Given the description of an element on the screen output the (x, y) to click on. 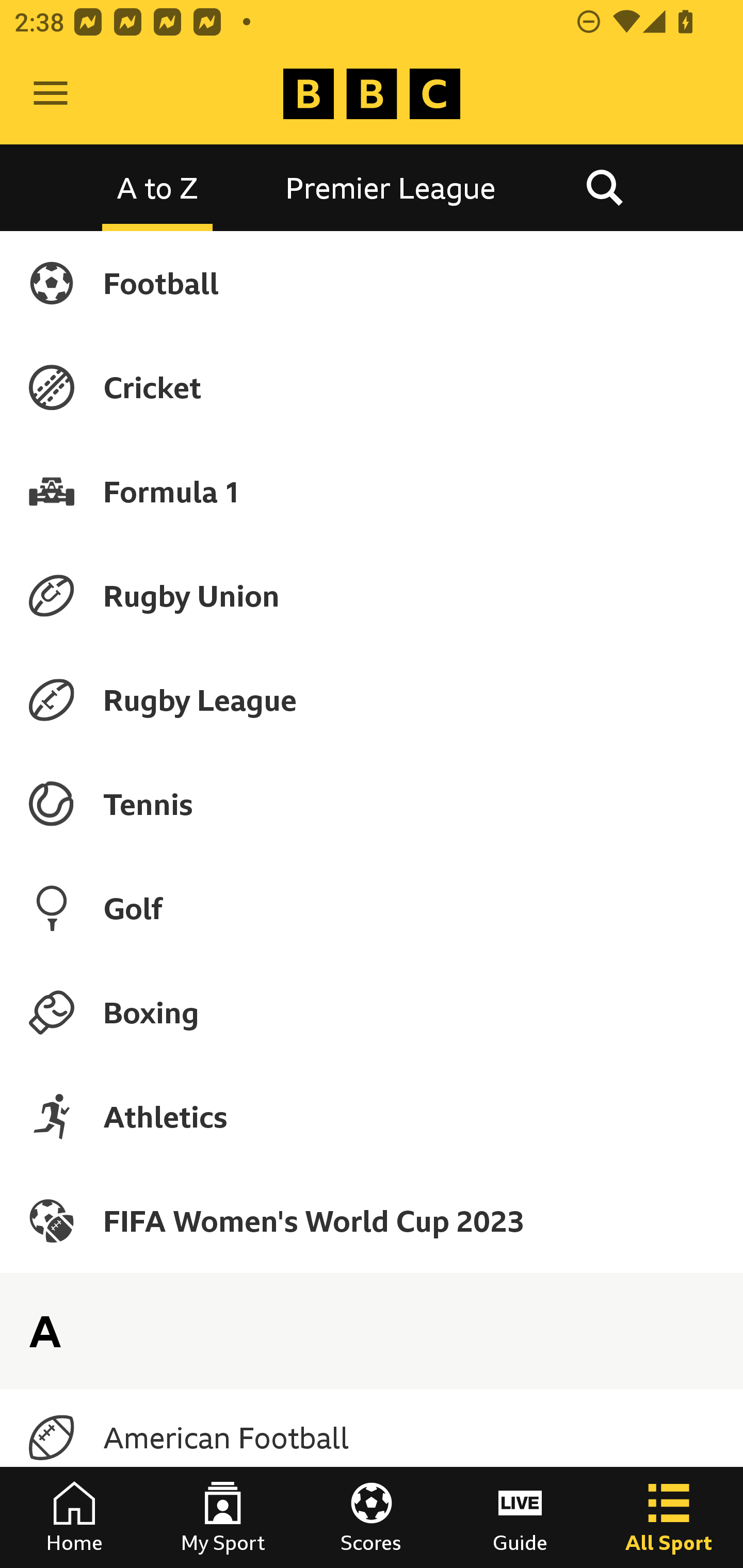
Open Menu (50, 93)
Premier League (390, 187)
Search (604, 187)
Football (371, 282)
Cricket (371, 387)
Formula 1 (371, 491)
Rugby Union (371, 595)
Rugby League (371, 699)
Tennis (371, 804)
Golf (371, 907)
Boxing (371, 1011)
Athletics (371, 1116)
FIFA Women's World Cup 2023 (371, 1220)
American Football (371, 1437)
Home (74, 1517)
My Sport (222, 1517)
Scores (371, 1517)
Guide (519, 1517)
